Given the description of an element on the screen output the (x, y) to click on. 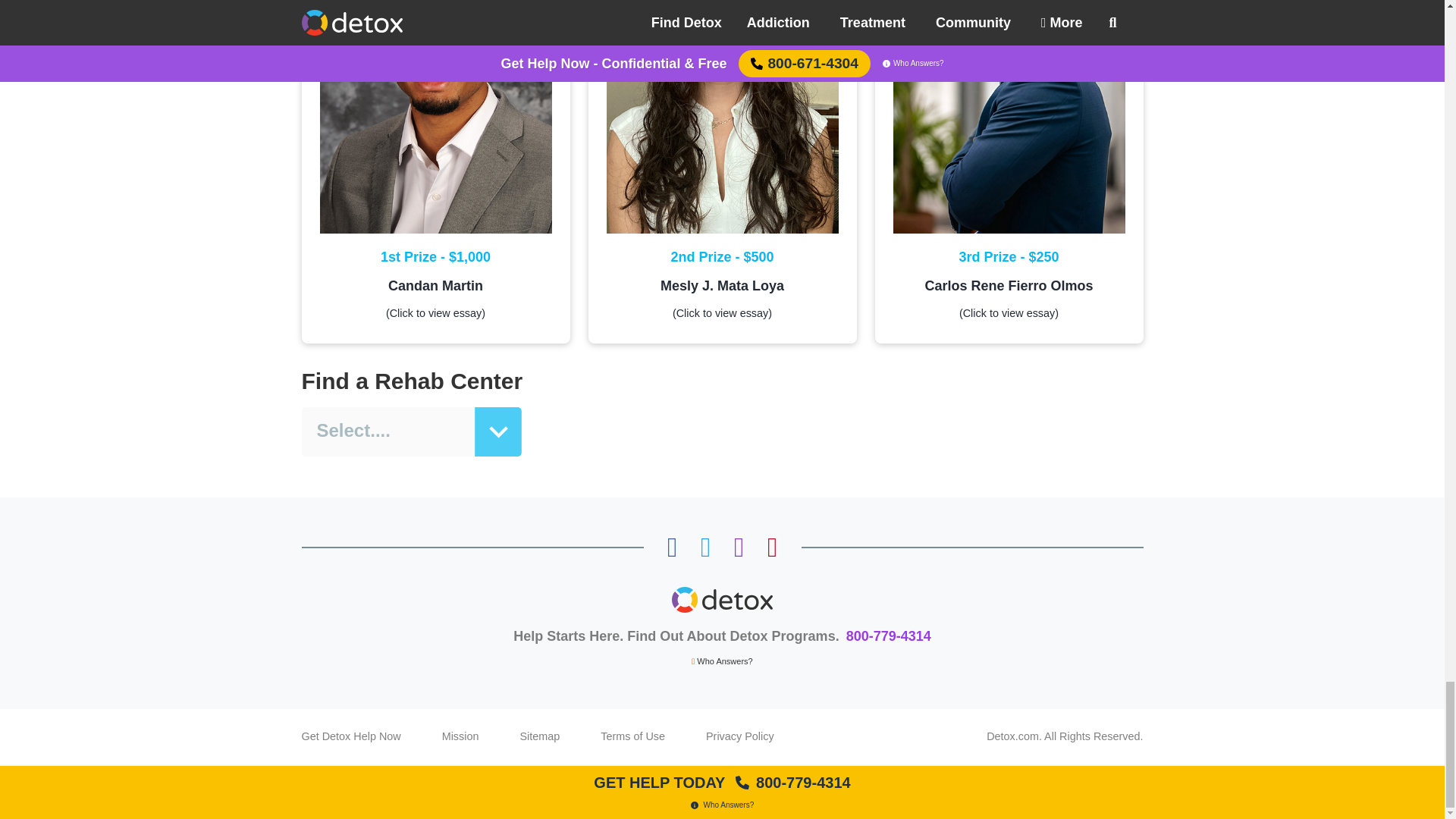
Follow us on Pinterest (772, 547)
Follow us on Facebook (671, 547)
Follow us on Twitter (705, 547)
Follow us on Instagram (738, 547)
